Given the description of an element on the screen output the (x, y) to click on. 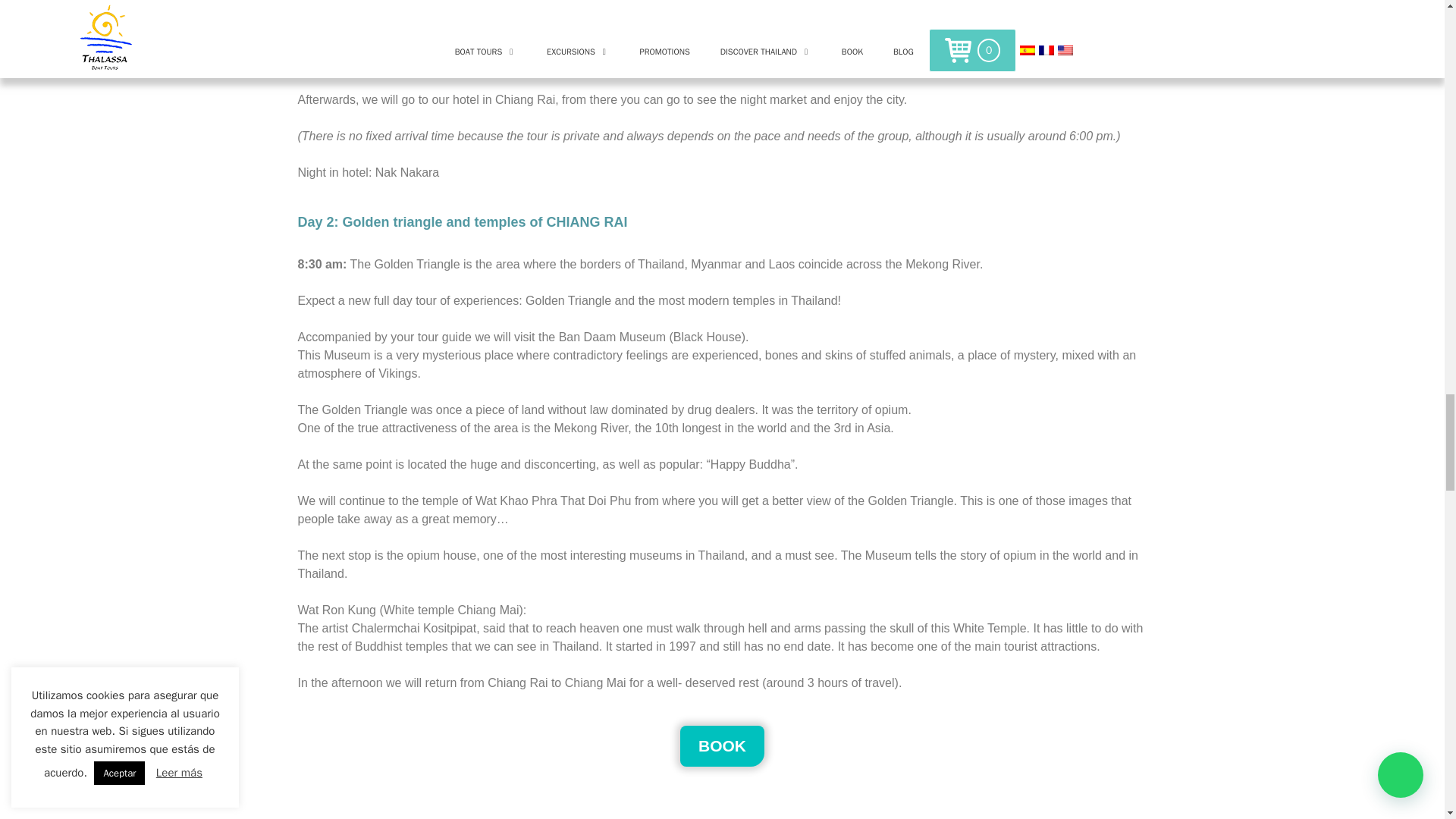
BOOK (721, 745)
